Given the description of an element on the screen output the (x, y) to click on. 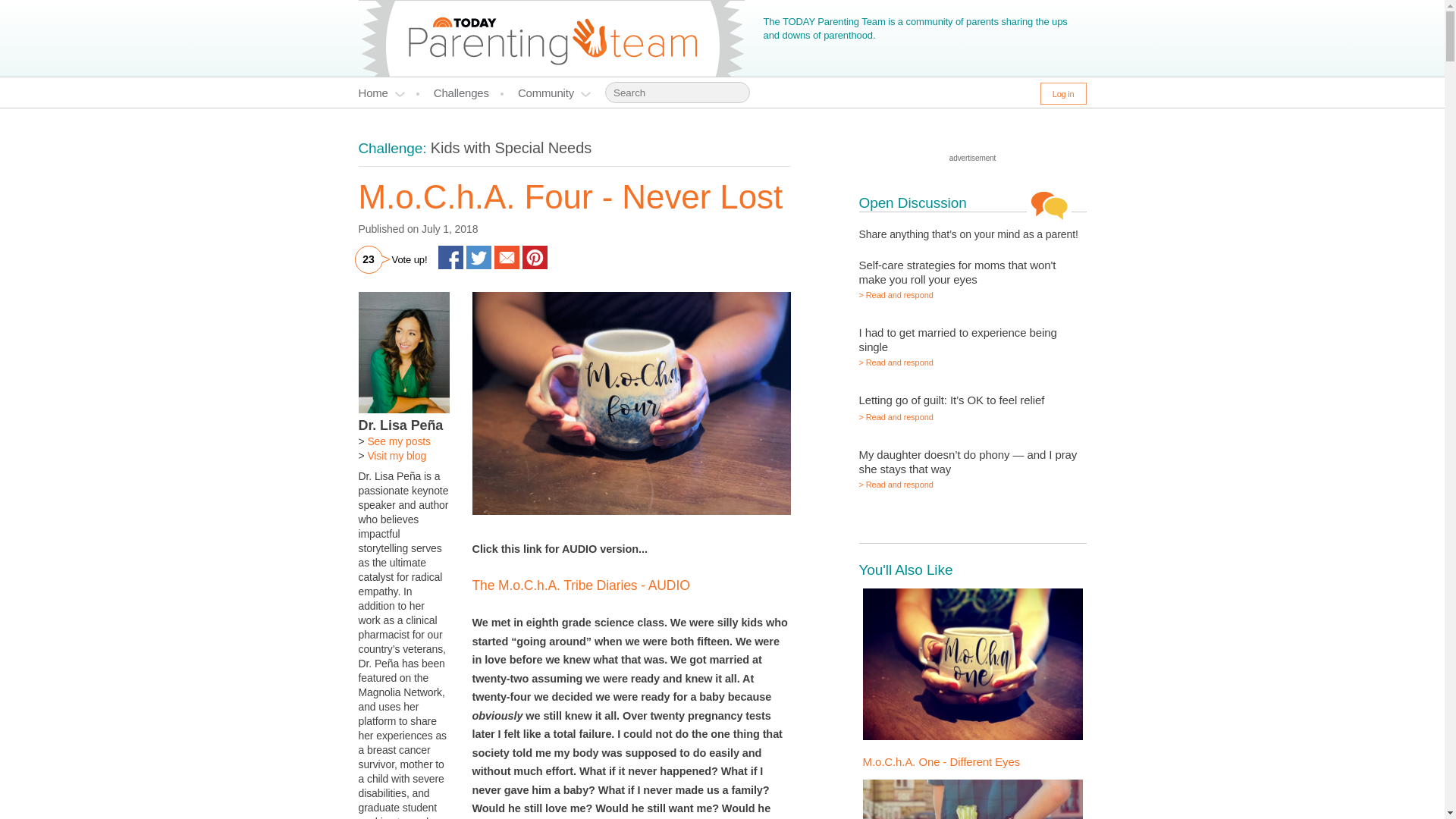
Kids with Special Needs (510, 147)
Log in (1063, 93)
Vote up! (409, 258)
advertisement (972, 157)
Home (388, 92)
Community (554, 92)
Visit my blog (396, 455)
See my posts (398, 440)
Challenges (468, 92)
The M.o.C.h.A. Tribe Diaries - AUDIO (579, 585)
Open Discussion (912, 202)
